Given the description of an element on the screen output the (x, y) to click on. 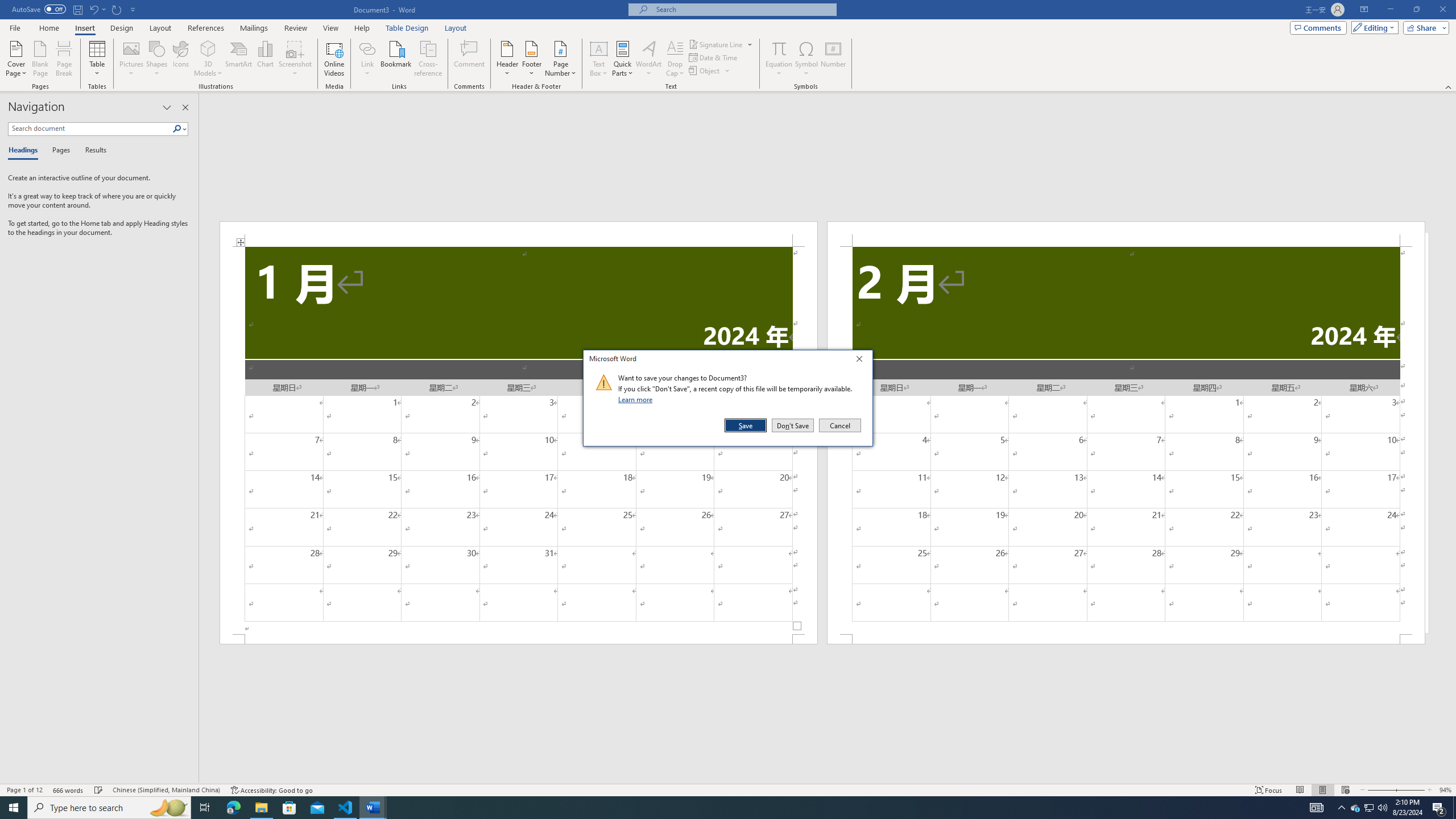
Bookmark... (396, 58)
Object... (709, 69)
Quick Parts (622, 58)
Running applications (717, 807)
Signature Line (716, 44)
